Given the description of an element on the screen output the (x, y) to click on. 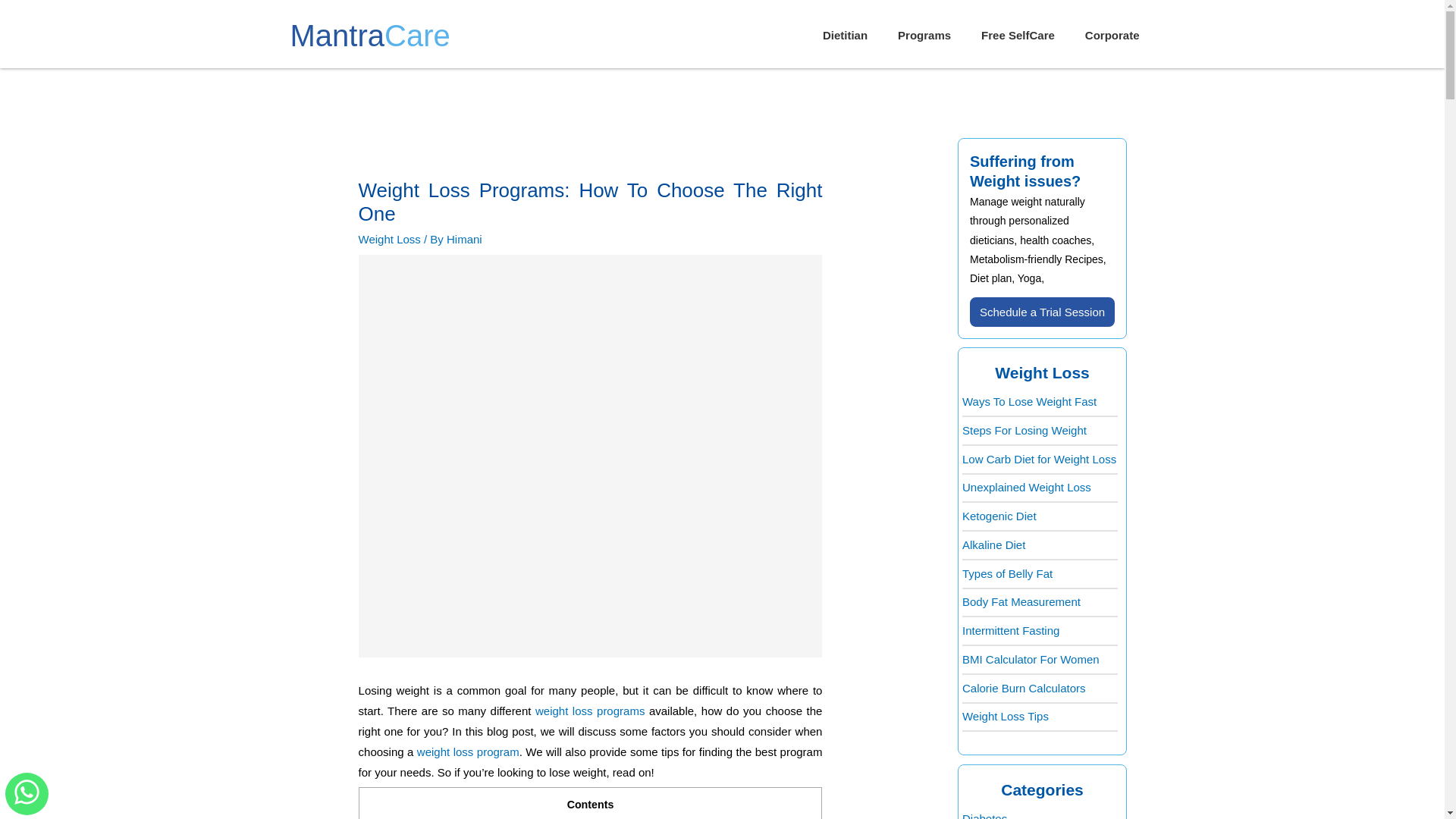
weight loss program (467, 751)
MantraCare (369, 35)
Free SelfCare (1018, 35)
weight loss program (467, 751)
Dietitian (845, 35)
View all posts by Himani (463, 238)
weight loss programs (590, 710)
Himani (463, 238)
Corporate (1112, 35)
Programs (924, 35)
